Given the description of an element on the screen output the (x, y) to click on. 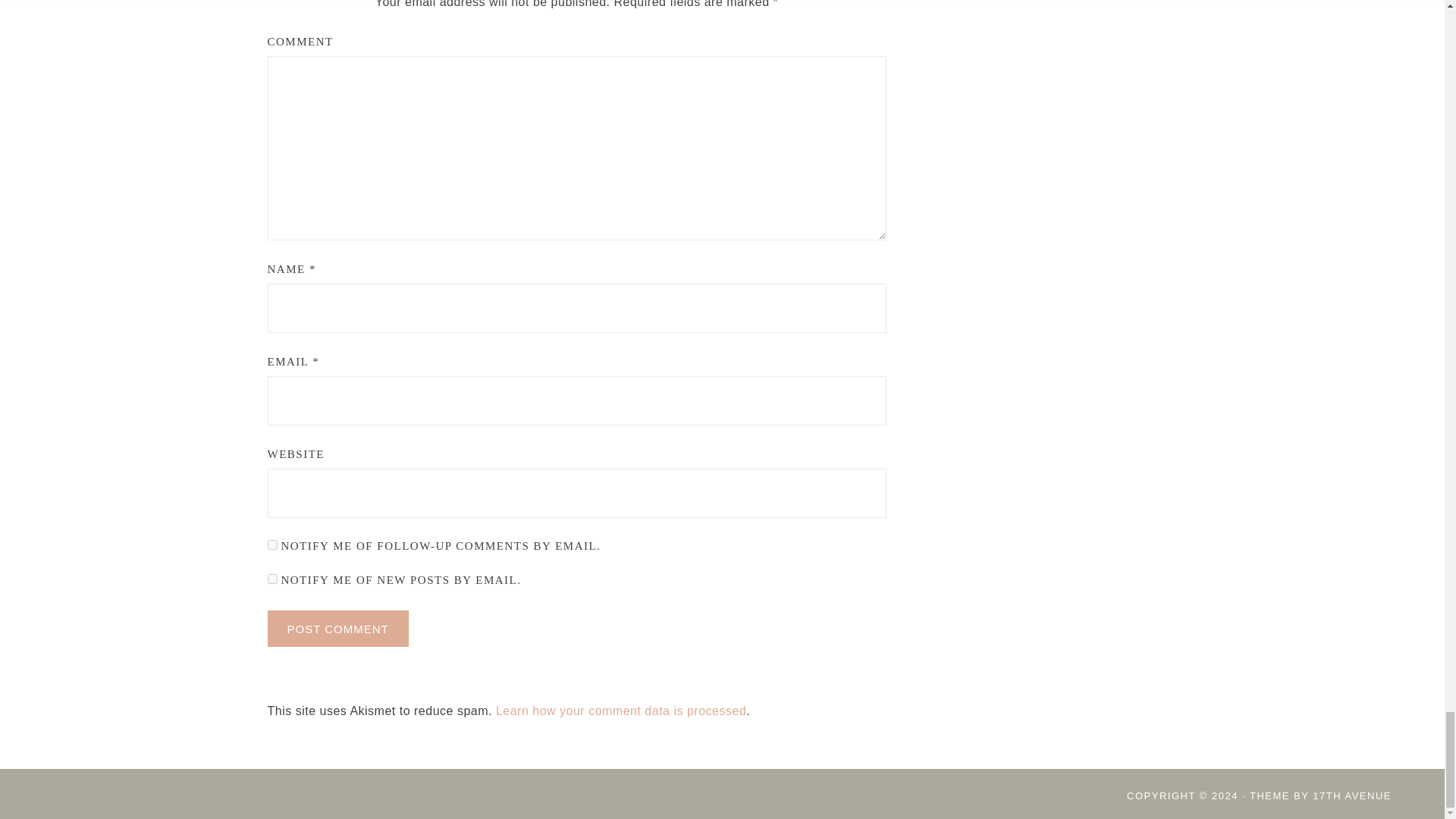
Post Comment (336, 628)
subscribe (271, 578)
subscribe (271, 544)
